Given the description of an element on the screen output the (x, y) to click on. 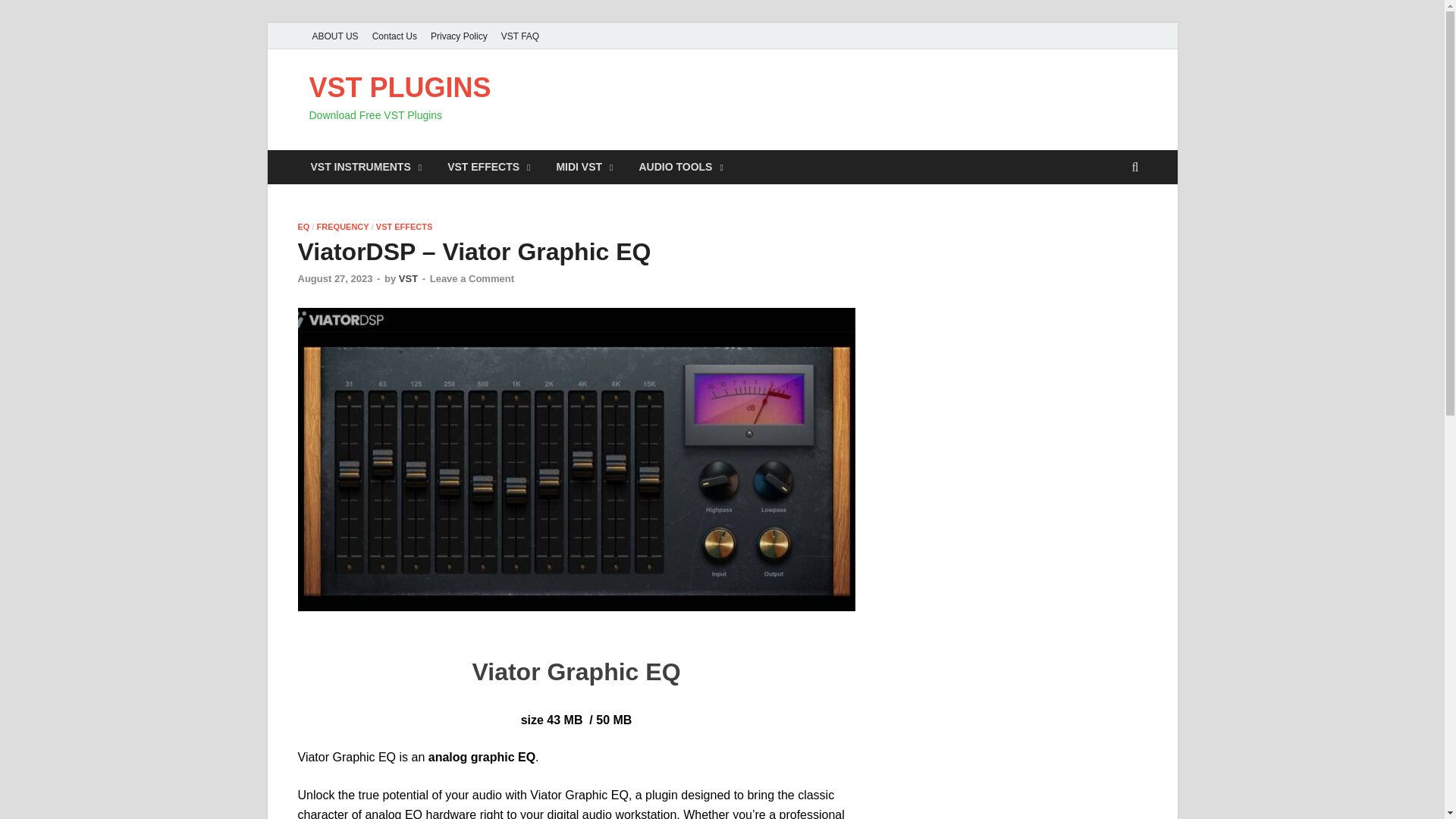
VST PLUGINS (400, 87)
Privacy Policy (459, 35)
VST FAQ (520, 35)
ABOUT US (334, 35)
Contact Us (394, 35)
VST INSTRUMENTS (365, 166)
